Given the description of an element on the screen output the (x, y) to click on. 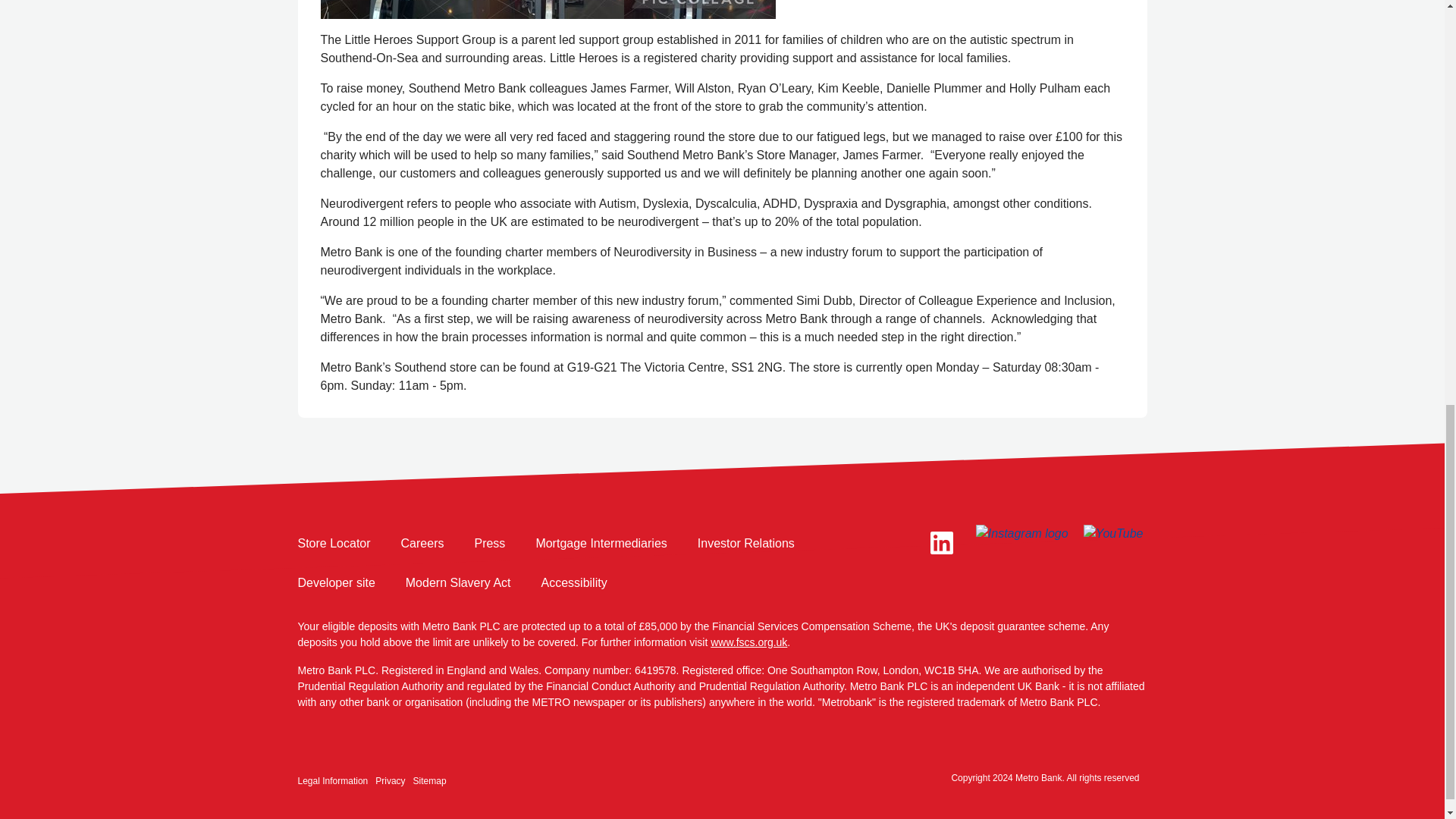
Careers (422, 543)
Store Locator (333, 543)
Developer site (335, 582)
Accessibility (574, 582)
Mortgage Intermediaries (600, 543)
Modern Slavery Act (458, 582)
FSCS Website (748, 642)
Investor Relations (745, 543)
